Given the description of an element on the screen output the (x, y) to click on. 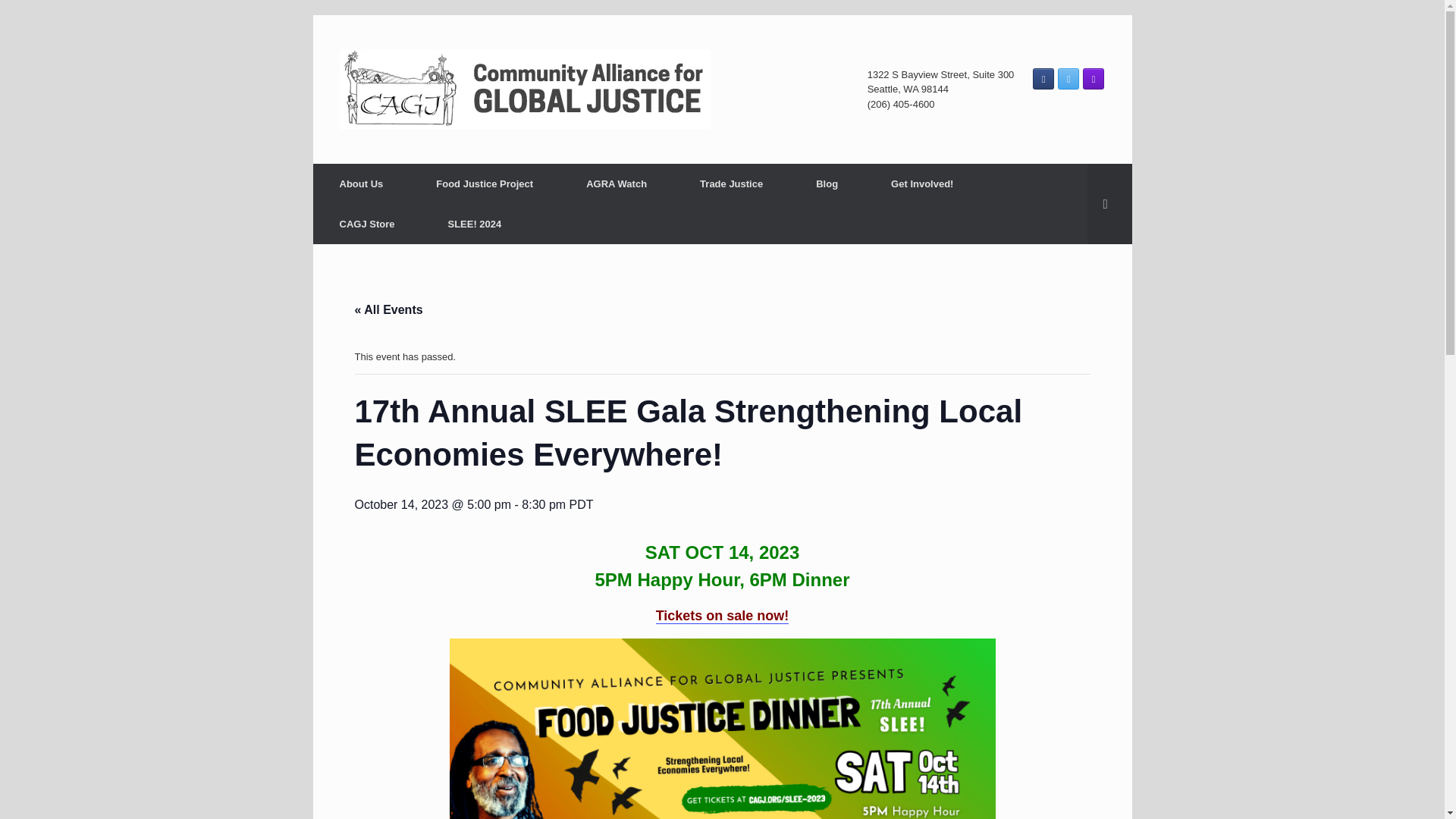
Community Alliance for Global Justice on Facebook (1043, 78)
Food Justice Project (484, 183)
AGRA Watch (615, 183)
Community Alliance for Global Justice on X Twitter (1068, 78)
Community Alliance for Global Justice on Instagram (1093, 78)
Get Involved! (921, 183)
Trade Justice (730, 183)
Community Alliance for Global Justice (524, 89)
Blog (826, 183)
